Given the description of an element on the screen output the (x, y) to click on. 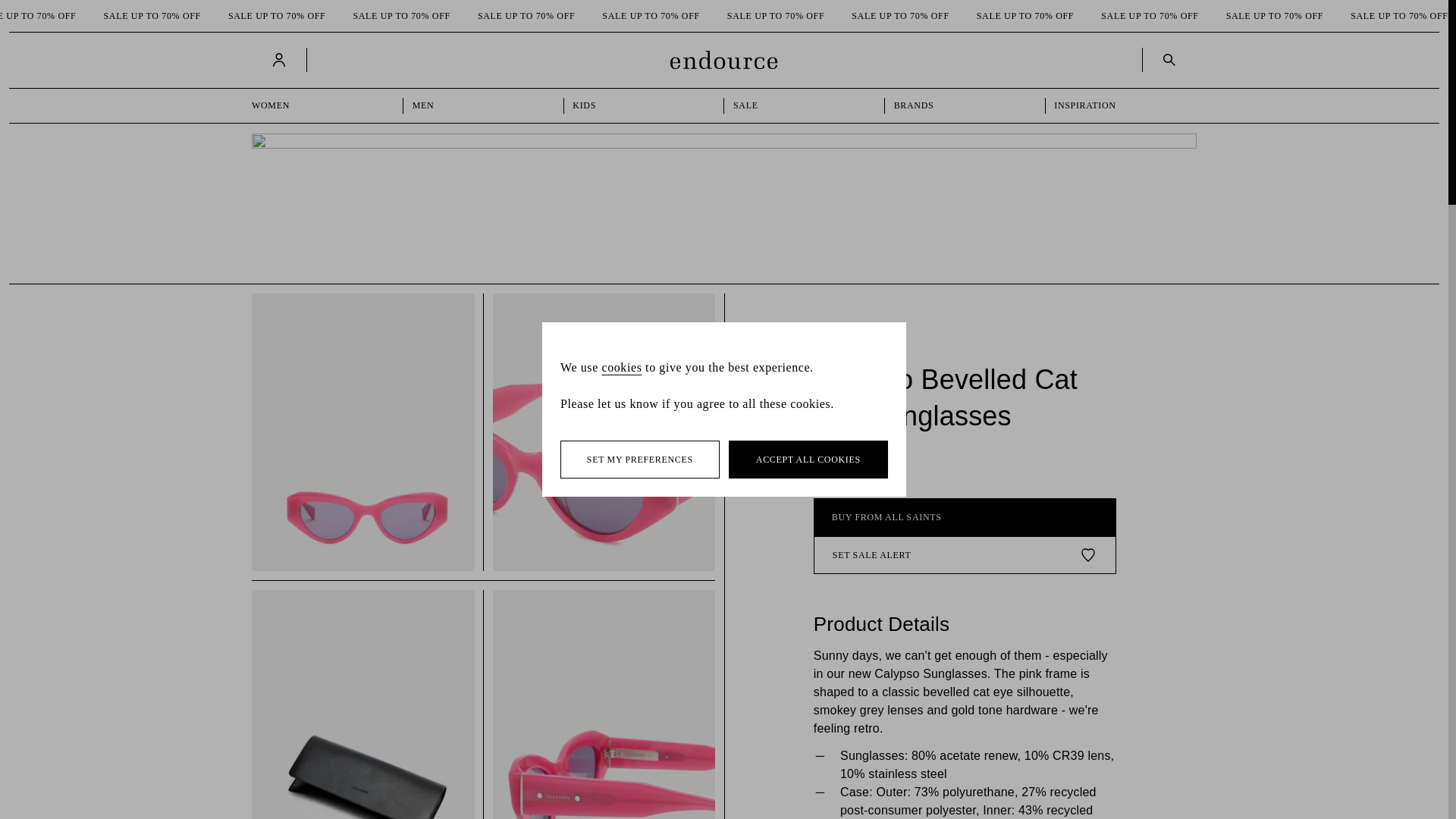
Search (1168, 59)
ACCOUNT (281, 59)
Account (278, 59)
Search (1166, 59)
WOMEN (323, 105)
